Given the description of an element on the screen output the (x, y) to click on. 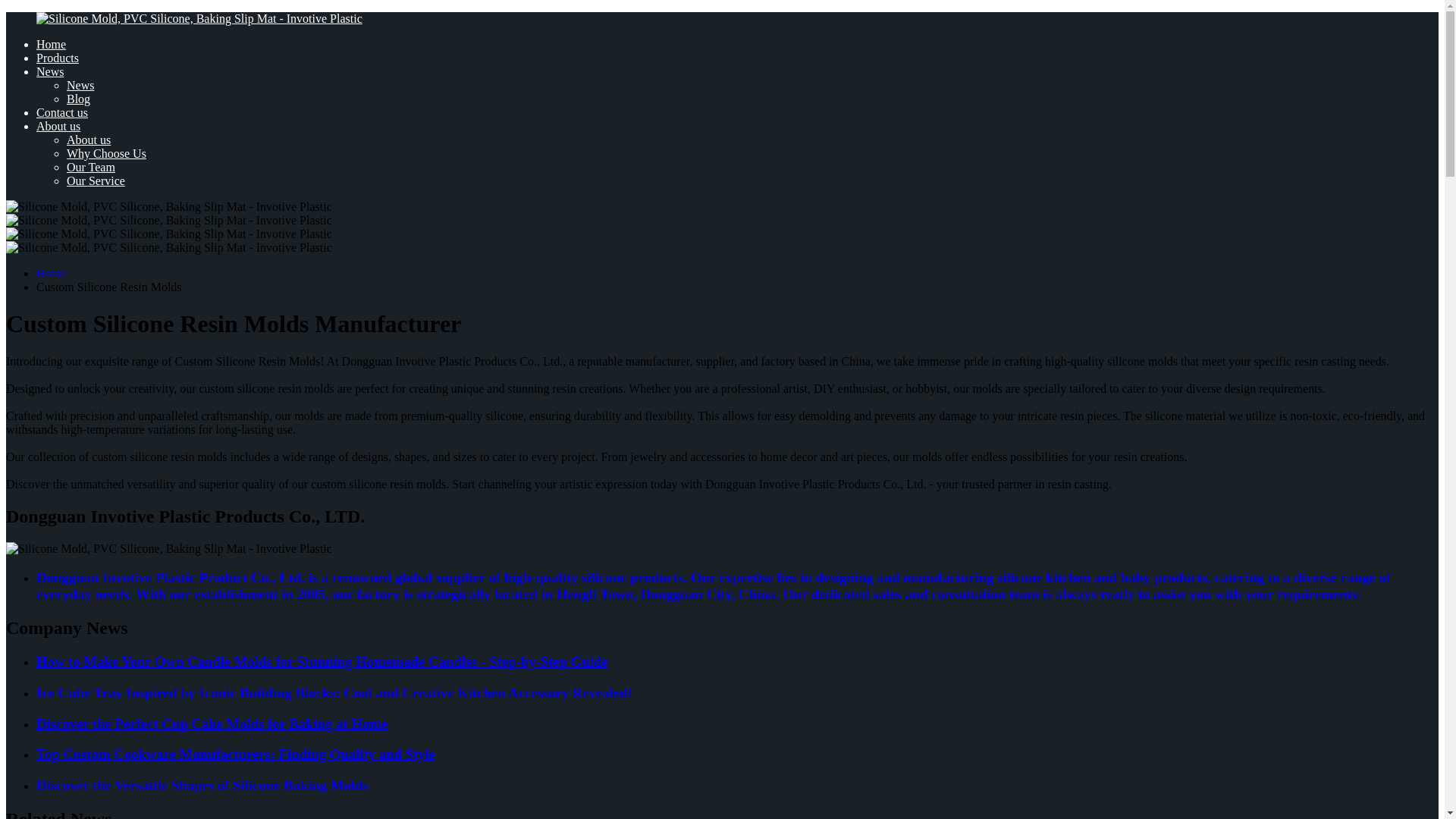
About us (58, 125)
News (50, 71)
News (80, 84)
Our Team (90, 166)
Home (50, 43)
About us (88, 139)
Why Choose Us (106, 153)
Contact us (61, 112)
Products (57, 57)
Our Service (95, 180)
